Given the description of an element on the screen output the (x, y) to click on. 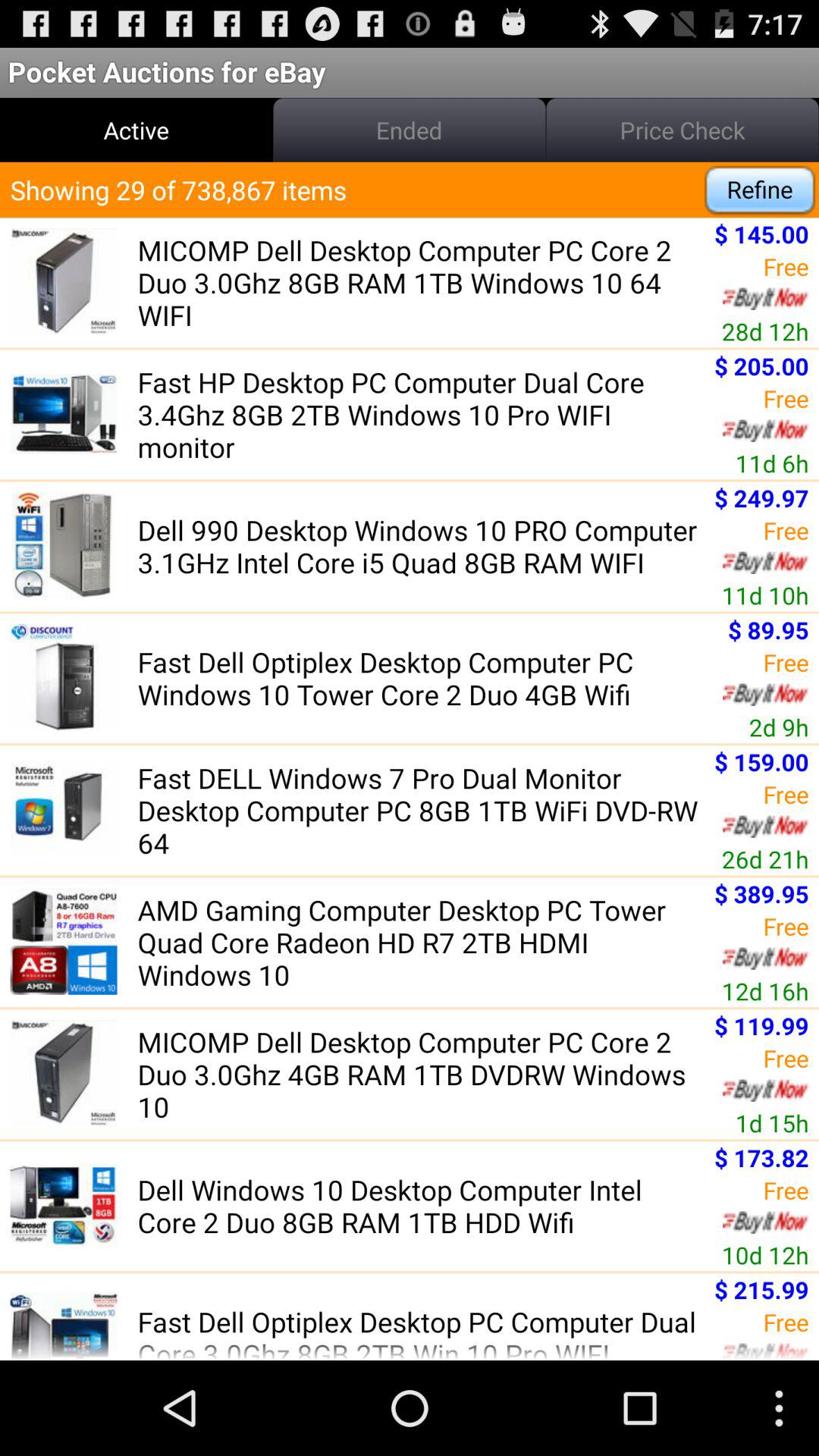
turn off the 11d 6h icon (771, 463)
